Given the description of an element on the screen output the (x, y) to click on. 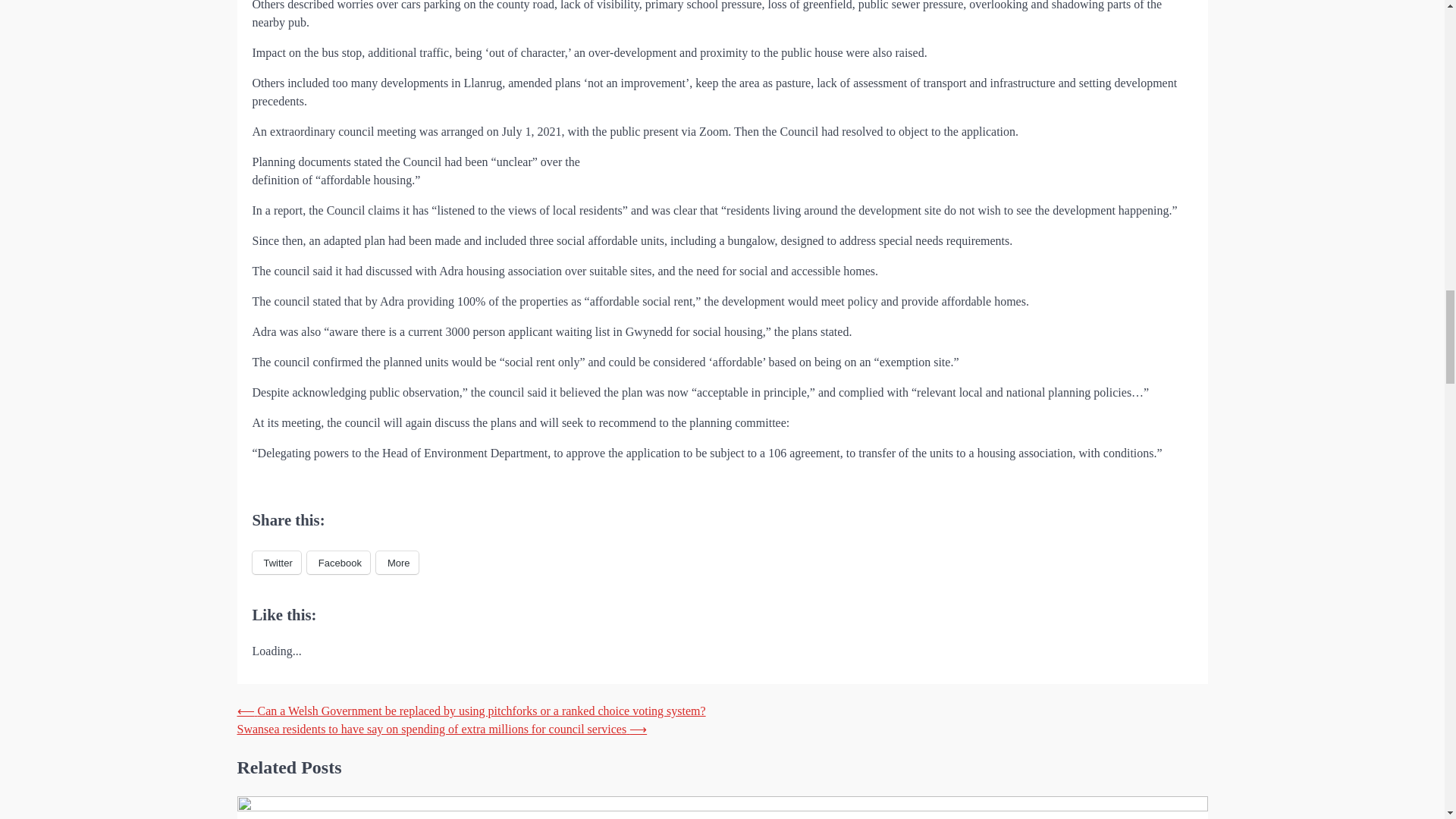
More (397, 562)
Twitter (275, 562)
Facebook (338, 562)
Click to share on Twitter (275, 562)
Click to share on Facebook (338, 562)
